Given the description of an element on the screen output the (x, y) to click on. 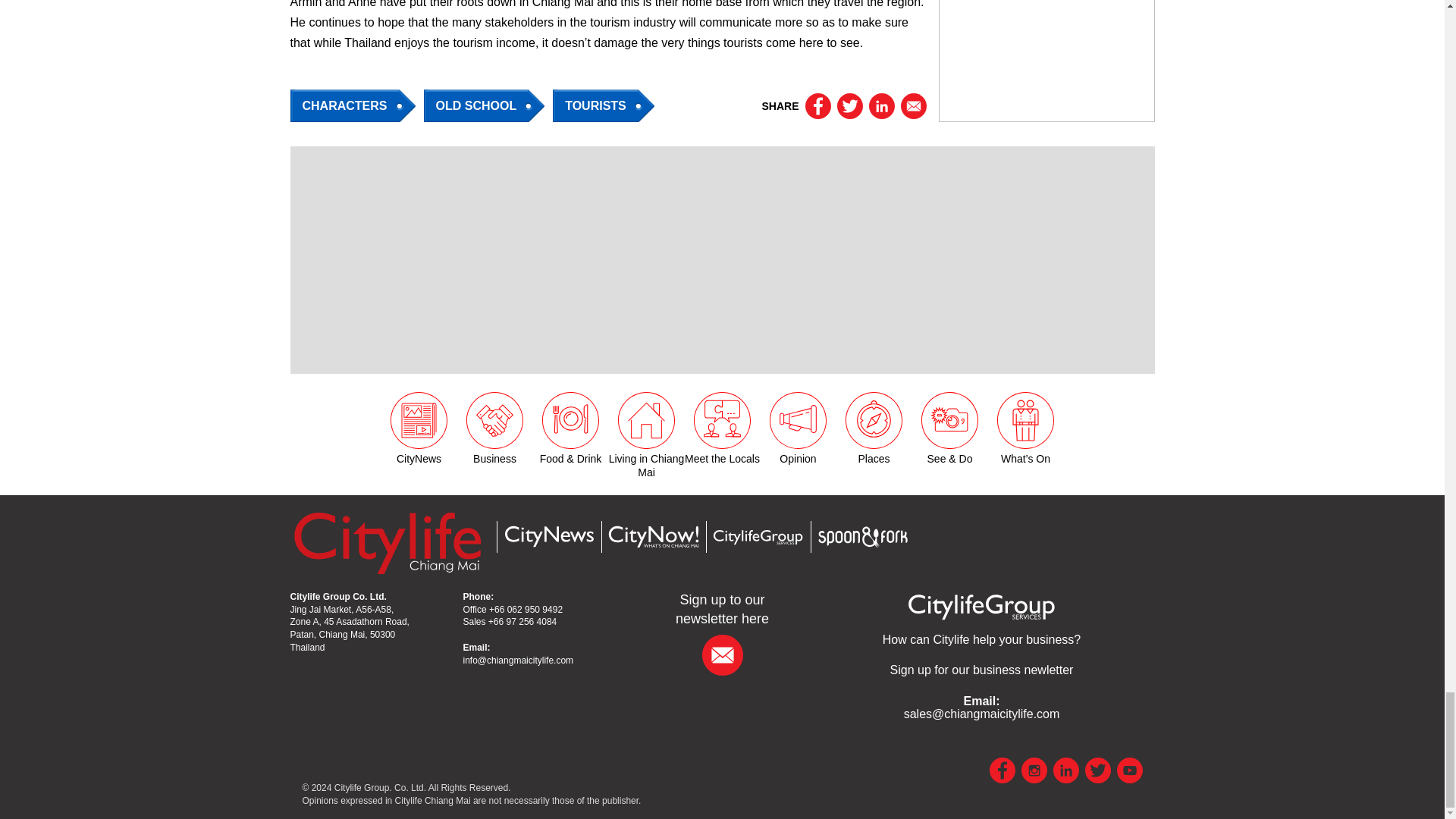
Citylife Group Services (981, 605)
Citylife Group Services (757, 537)
CityNews (548, 535)
CityNow - What's on Chiang Mai (652, 536)
Citylife Group Services (981, 639)
Chiang Mai Citylife (386, 542)
